Given the description of an element on the screen output the (x, y) to click on. 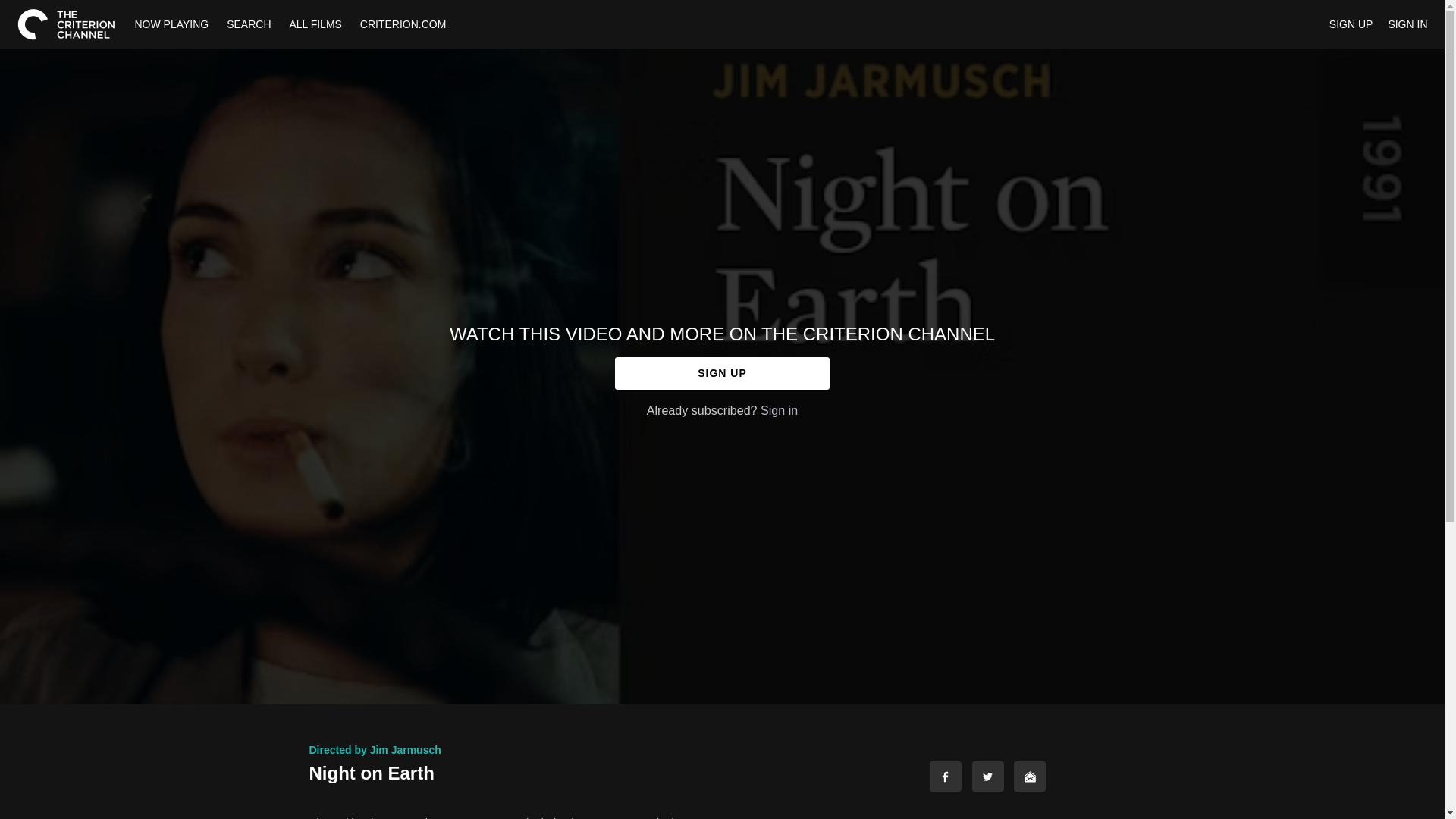
CRITERION.COM (403, 24)
SIGN UP (1351, 24)
Skip to main content (48, 7)
ALL FILMS (315, 24)
Facebook (945, 776)
Email (1029, 776)
Sign in (778, 409)
Directed by Jim Jarmusch (374, 749)
SIGN IN (1406, 24)
NOW PLAYING (172, 24)
SEARCH (250, 24)
SIGN UP (721, 373)
Twitter (988, 776)
